Given the description of an element on the screen output the (x, y) to click on. 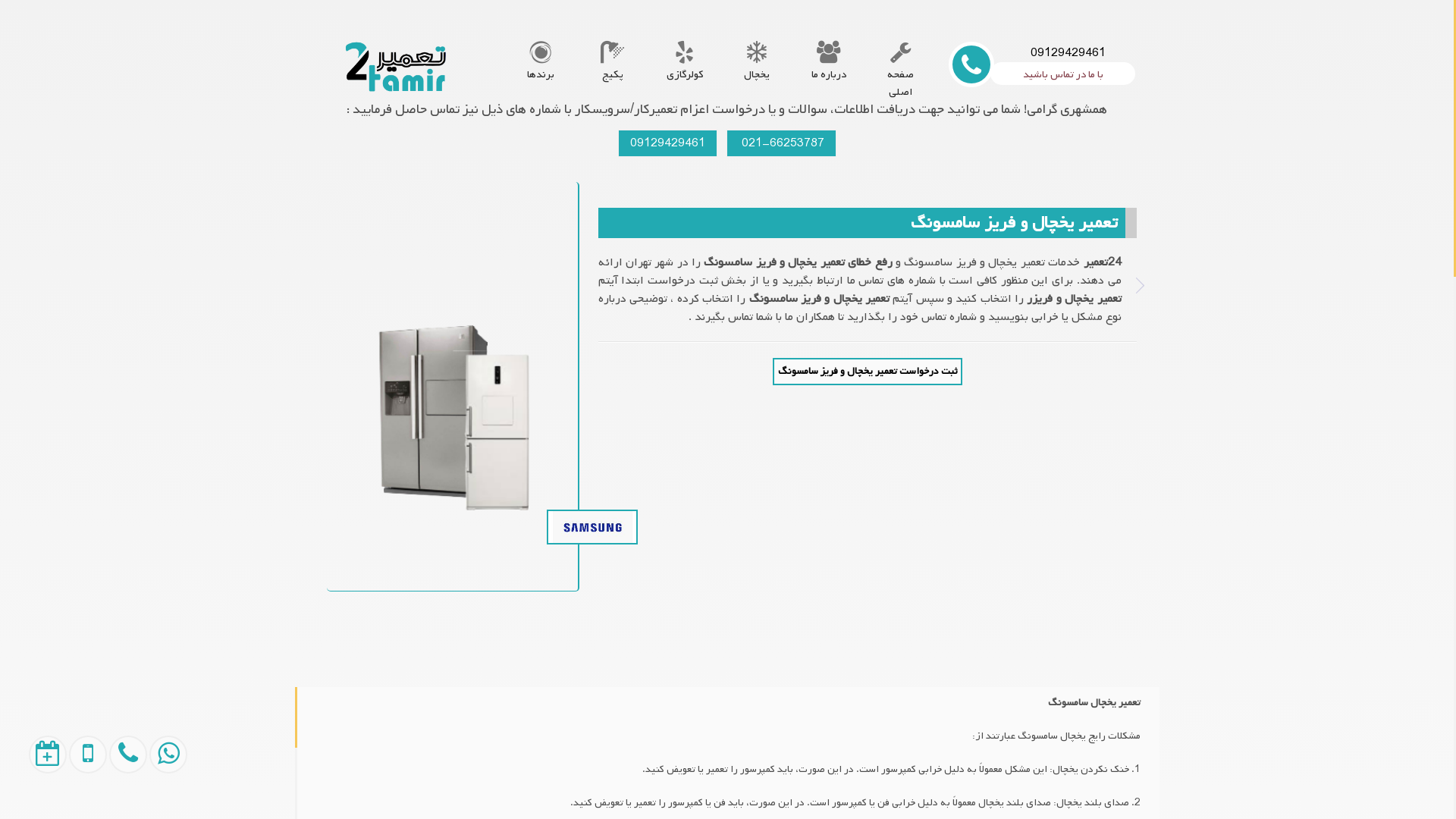
09129429461 Element type: text (666, 142)
021-66253787 Element type: text (781, 142)
